Given the description of an element on the screen output the (x, y) to click on. 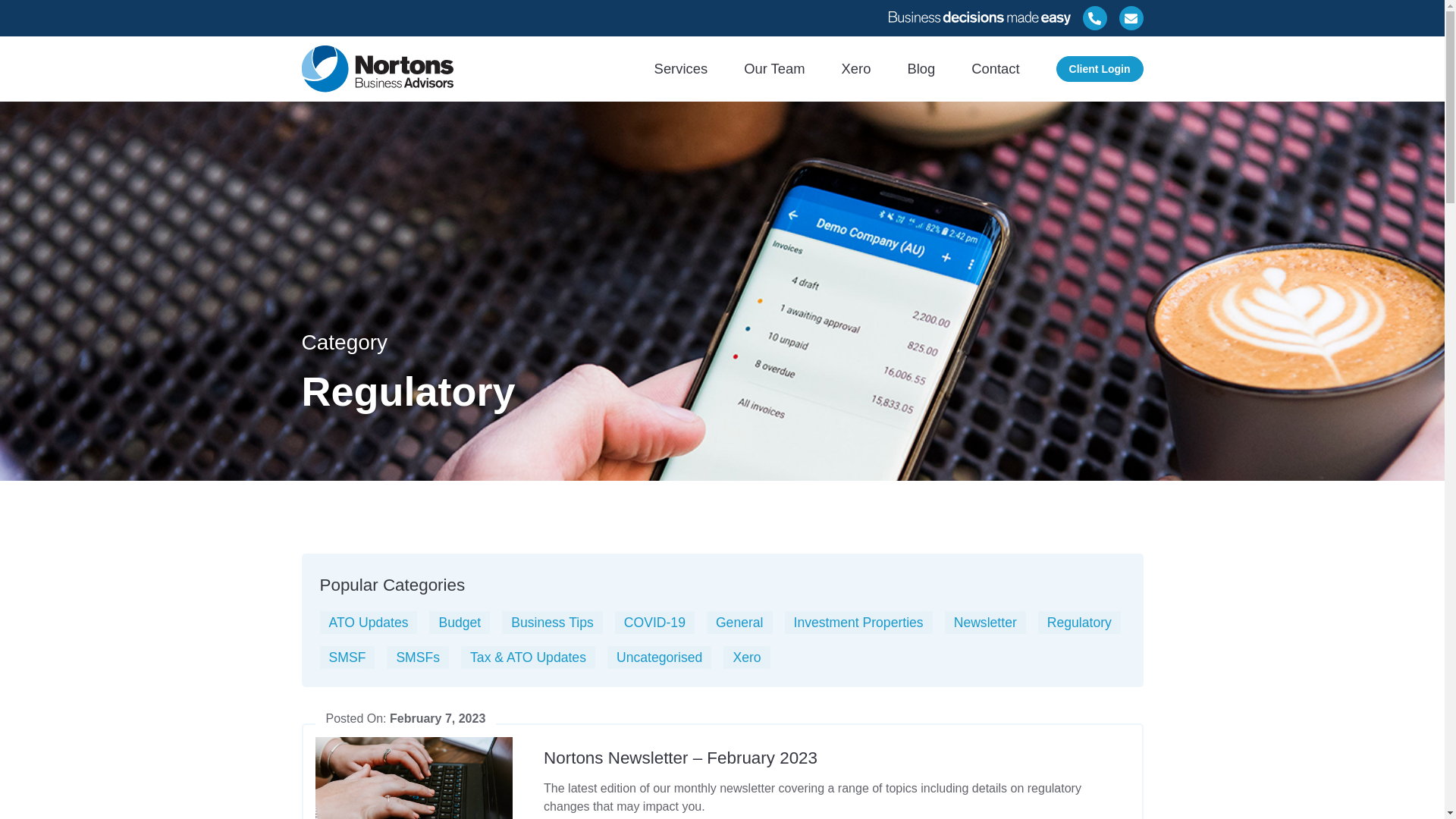
Uncategorised Element type: text (659, 657)
Budget Element type: text (459, 622)
Investment Properties Element type: text (858, 622)
Contact Element type: text (995, 68)
Newsletter Element type: text (984, 622)
Tax & ATO Updates Element type: text (528, 657)
SMSF Element type: text (347, 657)
ATO Updates Element type: text (368, 622)
COVID-19 Element type: text (654, 622)
General Element type: text (739, 622)
Regulatory Element type: text (1079, 622)
Business Tips Element type: text (552, 622)
Xero Element type: text (746, 657)
SMSFs Element type: text (417, 657)
Services Element type: text (681, 68)
Client Login Element type: text (1099, 68)
Xero Element type: text (856, 68)
Our Team Element type: text (773, 68)
Blog Element type: text (920, 68)
